Given the description of an element on the screen output the (x, y) to click on. 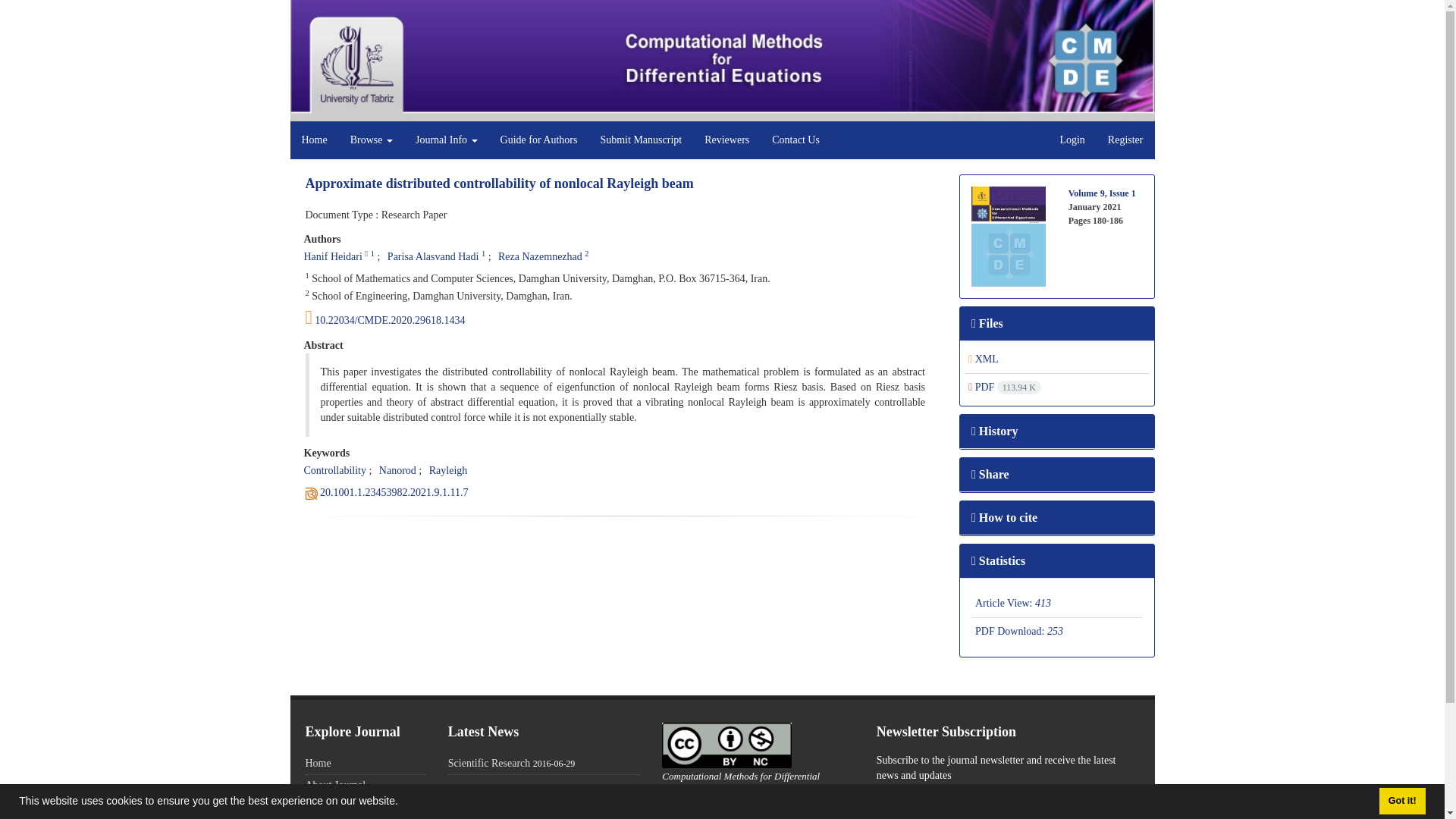
Parisa Alasvand Hadi (433, 256)
Controllability (333, 470)
Guide for Authors (539, 139)
Rayleigh (448, 470)
Reza Nazemnezhad (539, 256)
Login (1072, 139)
Submit Manuscript (640, 139)
Reviewers (726, 139)
DOI (620, 317)
Hanif Heidari (331, 256)
Nanorod (397, 470)
Home (313, 139)
DOR (393, 491)
Browse (371, 139)
